Given the description of an element on the screen output the (x, y) to click on. 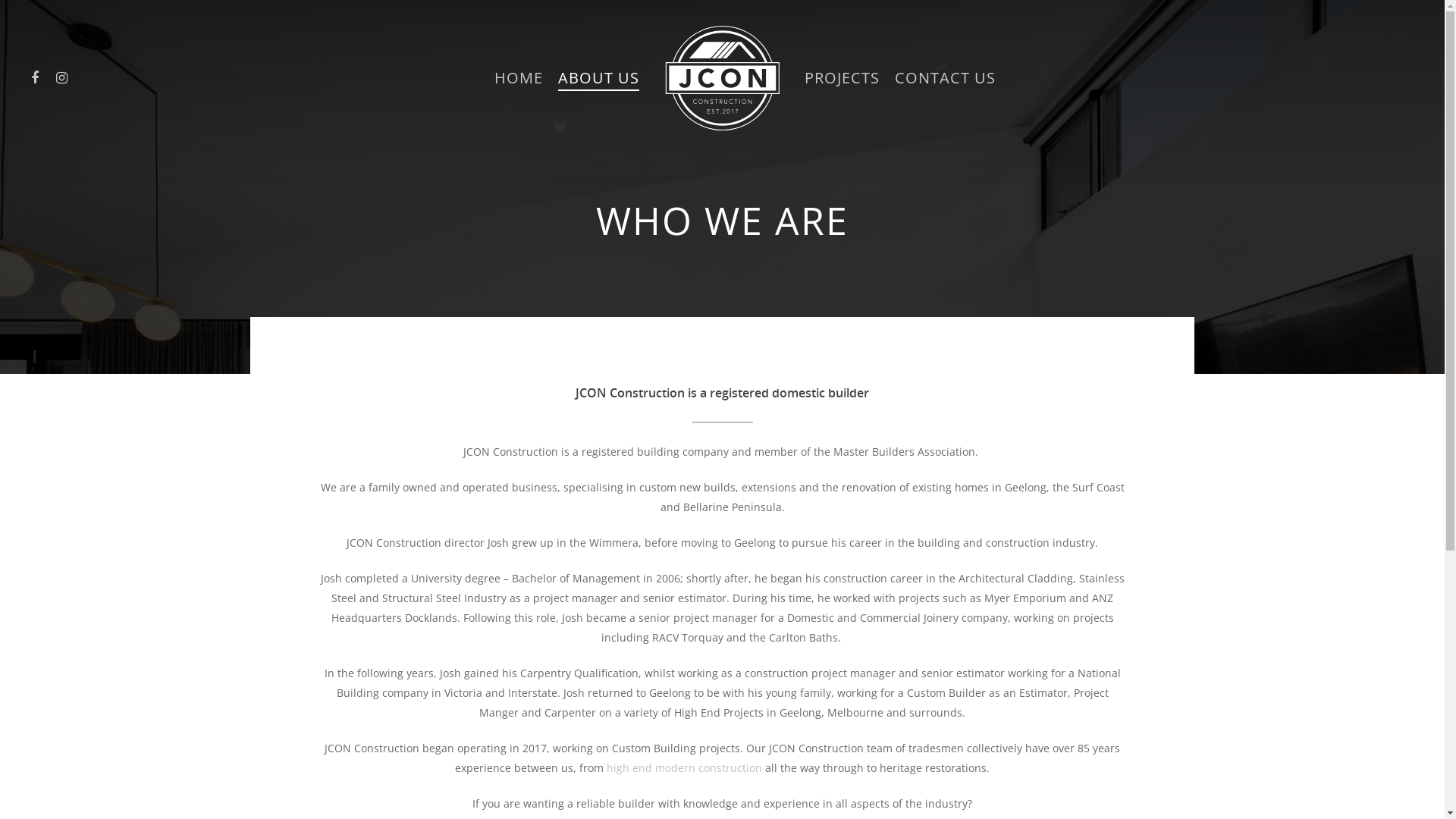
PROJECTS Element type: text (841, 77)
high end modern construction Element type: text (684, 767)
HOME Element type: text (518, 77)
CONTACT US Element type: text (944, 77)
ABOUT US Element type: text (598, 77)
